Given the description of an element on the screen output the (x, y) to click on. 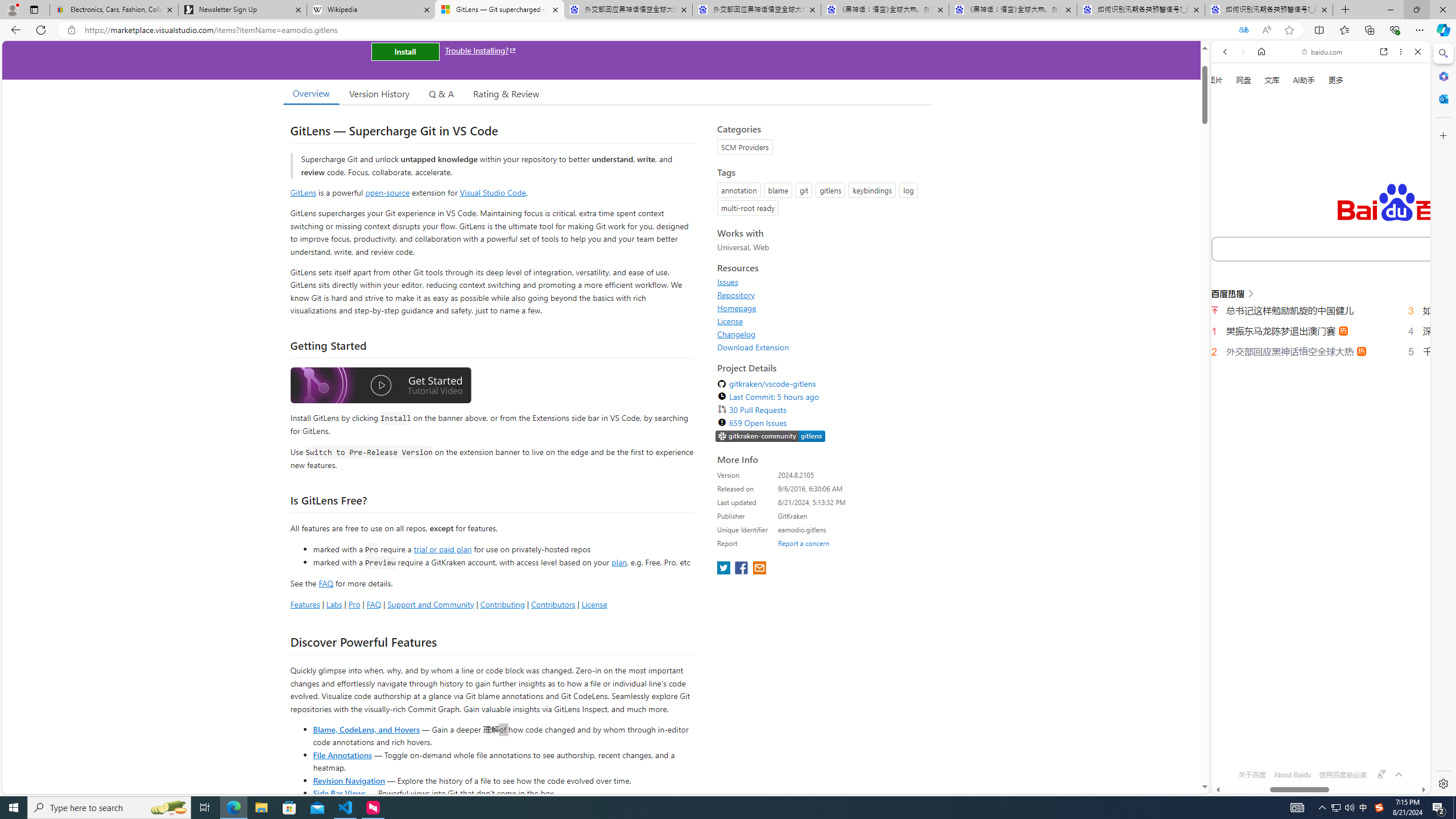
Rating & Review (505, 92)
Download Extension (820, 346)
English (Uk) (1320, 357)
plan (618, 562)
Report a concern (803, 542)
